Given the description of an element on the screen output the (x, y) to click on. 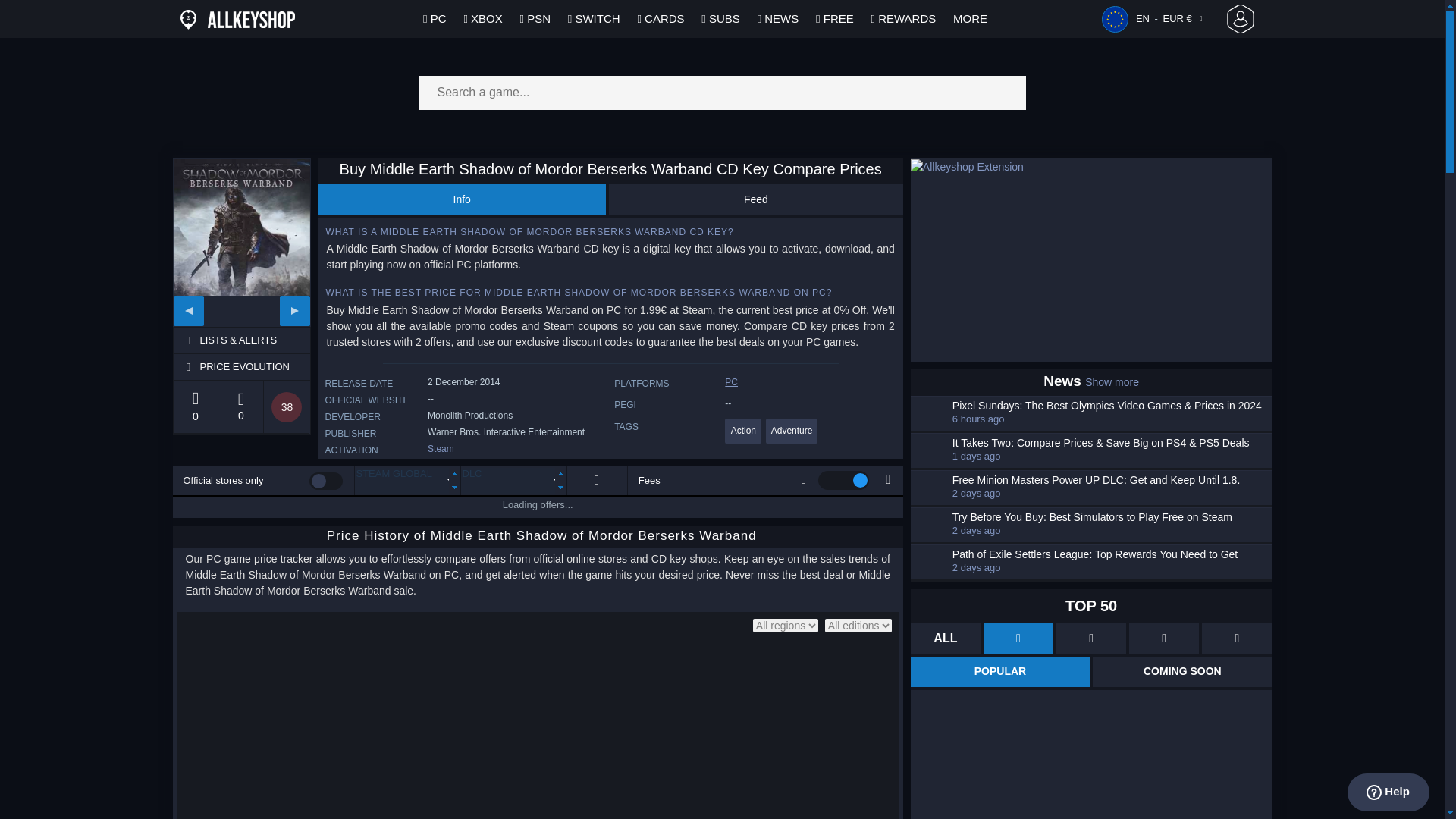
PSN (535, 18)
Price evolution (252, 366)
Show more (1111, 381)
PC (434, 18)
Steam keys (441, 448)
Path of Exile Settlers League: Top Rewards You Need to Get (1110, 554)
Try Before You Buy: Best Simulators to Play Free on Steam (1110, 517)
XBOX (482, 18)
Free Minion Masters Power UP DLC: Get and Keep Until 1.8. (1110, 480)
SWITCH (594, 18)
